Given the description of an element on the screen output the (x, y) to click on. 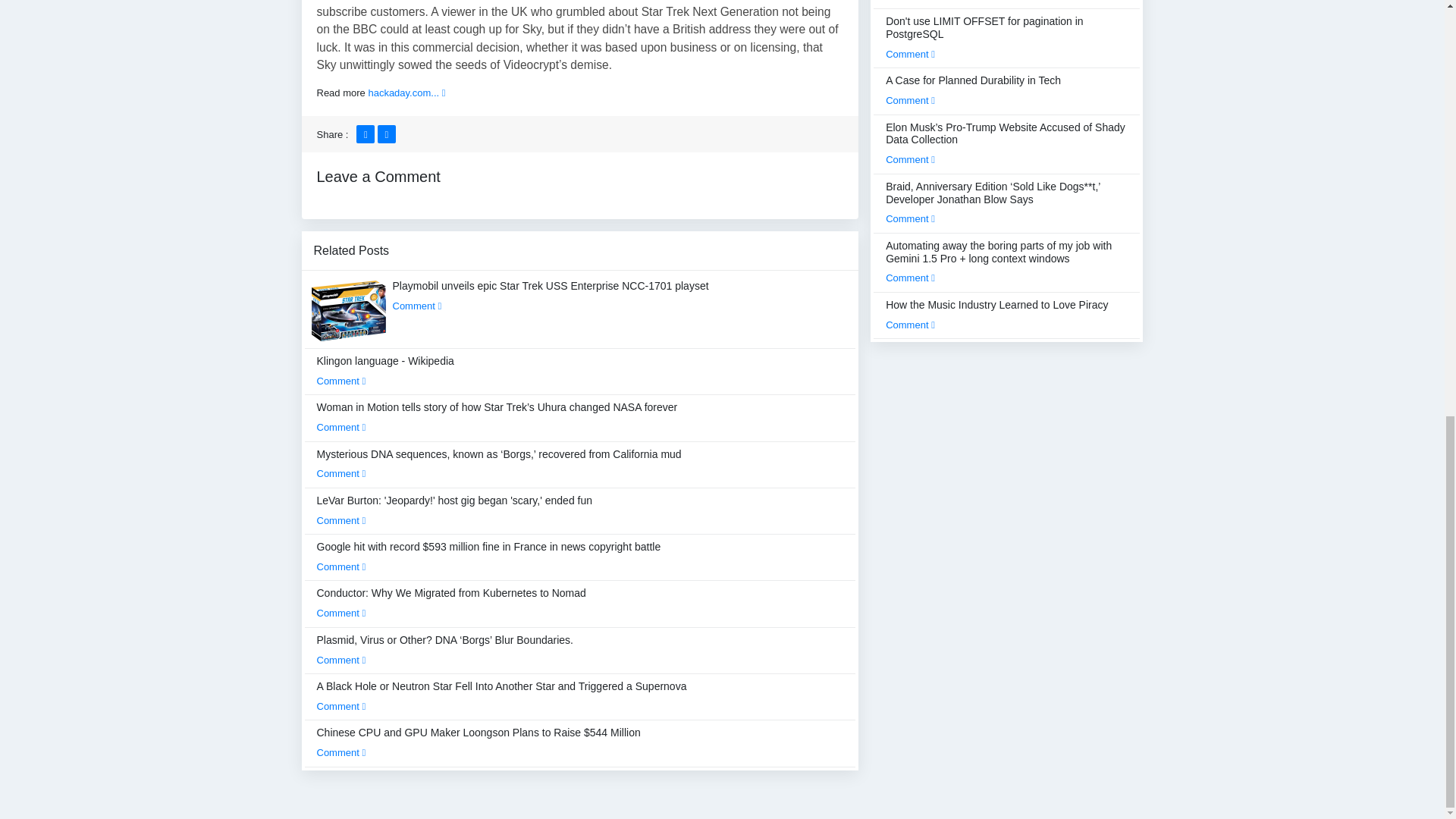
Klingon language - Wikipedia (385, 370)
Comment (341, 380)
Comment (341, 566)
Comment (341, 659)
Comment (341, 706)
Conductor: Why We Migrated from Kubernetes to Nomad (451, 603)
Comment (417, 306)
Comment (341, 613)
Comment (341, 520)
Comment (341, 427)
LeVar Burton: 'Jeopardy!' host gig began 'scary,' ended fun (454, 510)
Comment (341, 473)
hackaday.com... (406, 92)
